Given the description of an element on the screen output the (x, y) to click on. 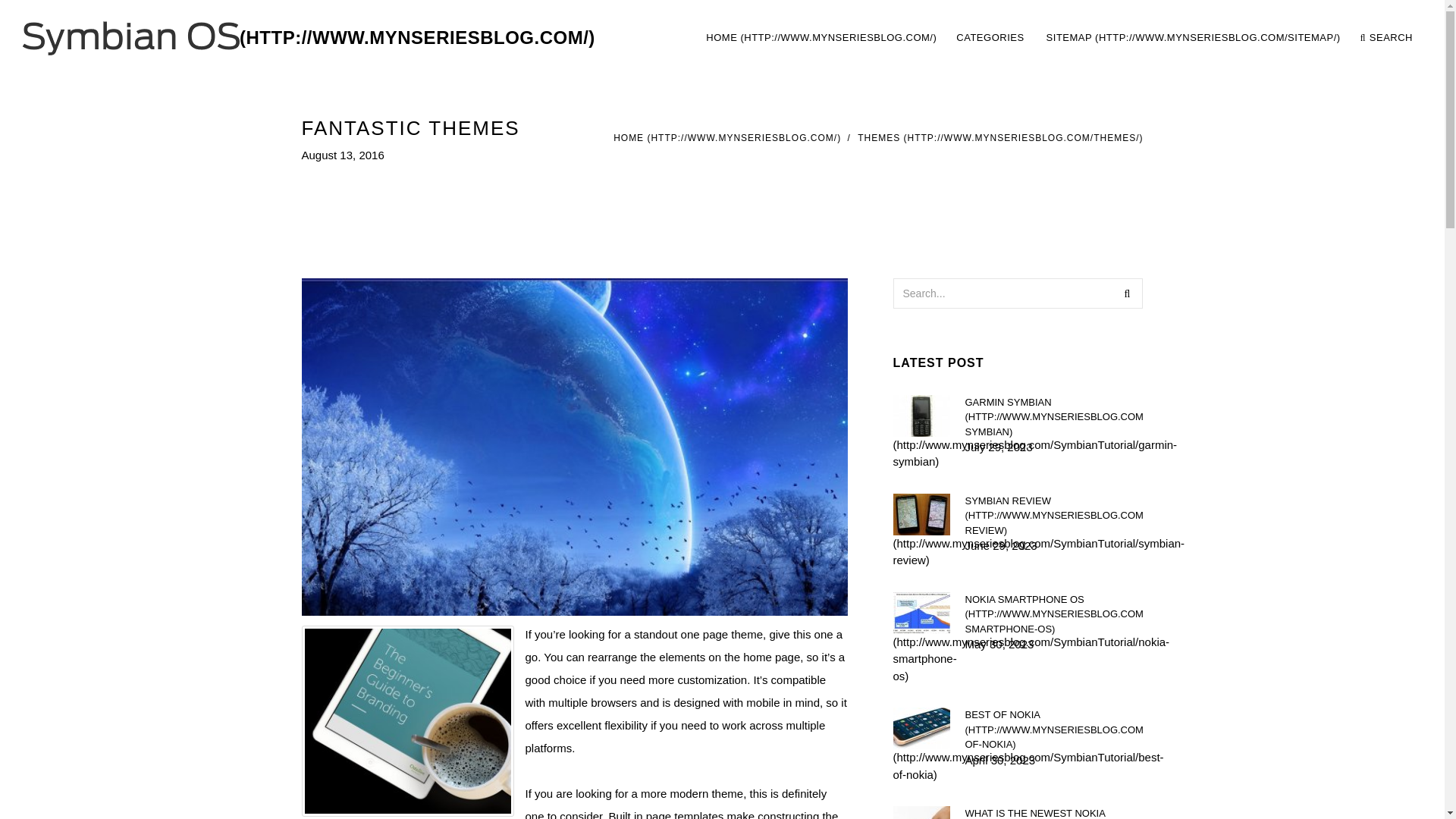
SEARCH (1386, 38)
Symbian OS (309, 38)
CATEGORIES (1058, 38)
THEMES (991, 38)
SITEMAP (999, 137)
HOME (1192, 38)
Search (726, 137)
HOME (1126, 292)
